Given the description of an element on the screen output the (x, y) to click on. 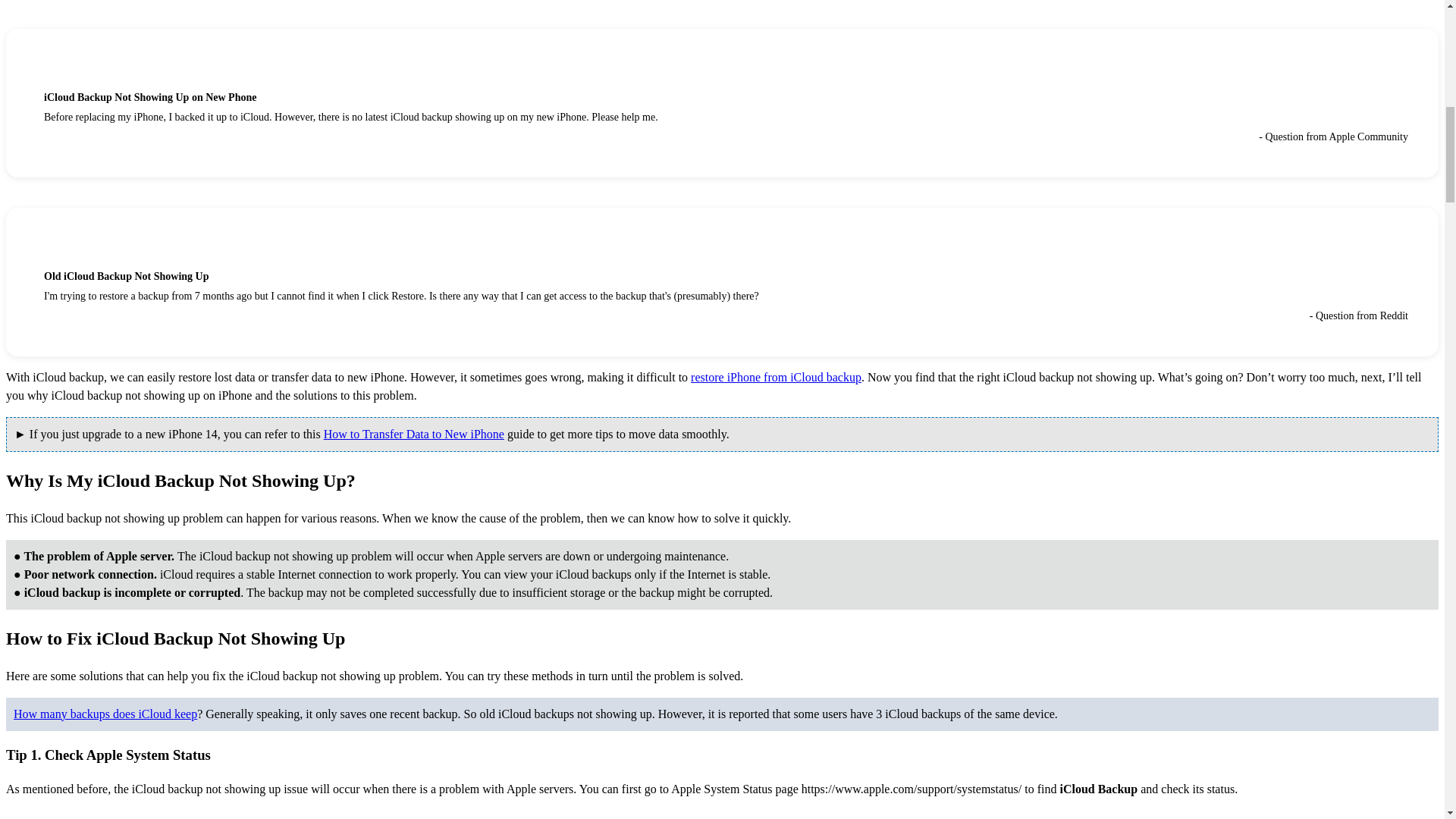
restore iPhone from iCloud backup (775, 377)
How many backups does iCloud keep (104, 712)
How to Transfer Data to New iPhone (413, 433)
